Given the description of an element on the screen output the (x, y) to click on. 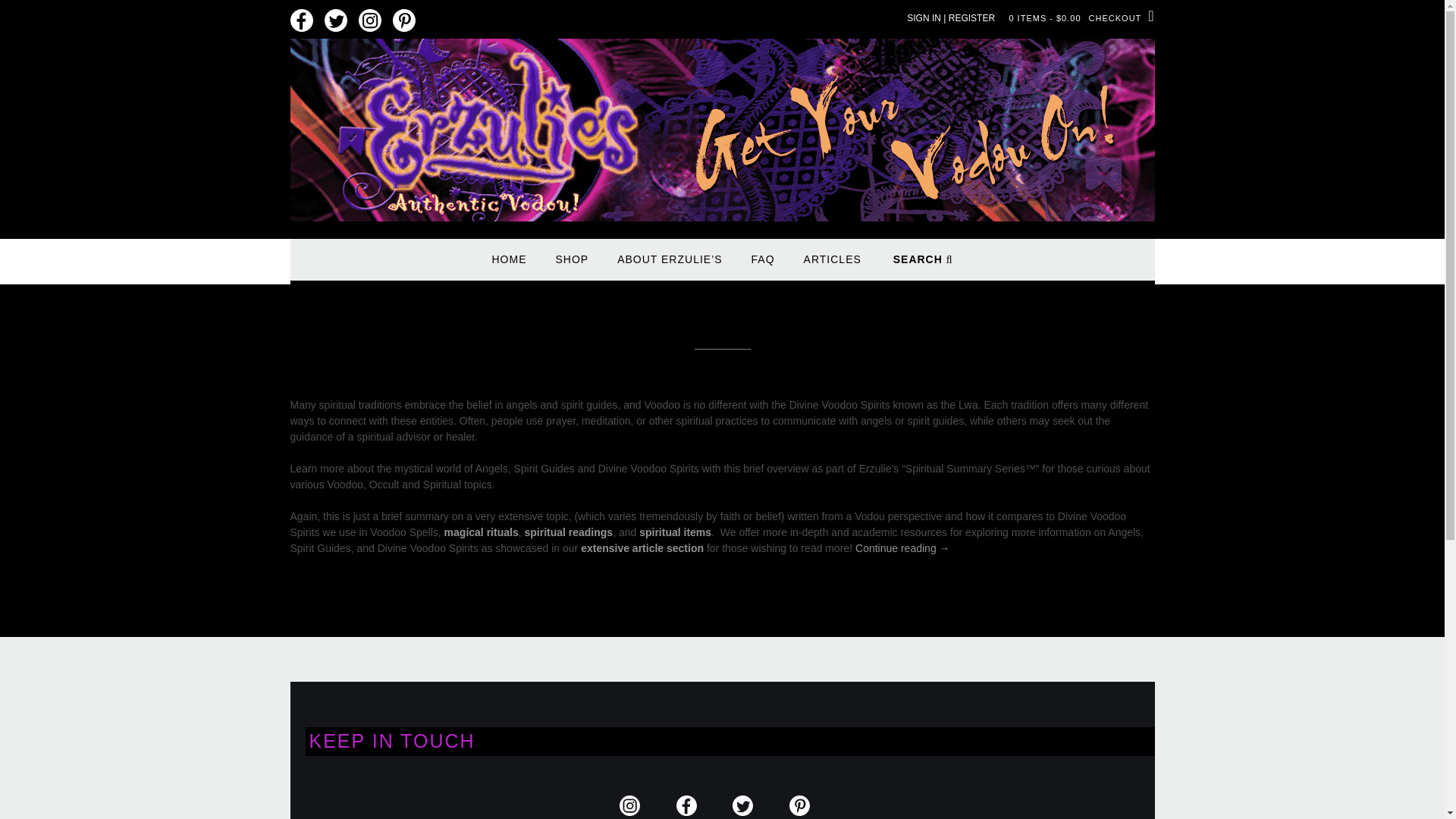
magical rituals (479, 532)
Follow us on Twitter (335, 21)
HOME (508, 266)
Find us on Facebook (301, 21)
ARTICLES (832, 266)
spiritual items (675, 532)
extensive article section (641, 548)
Pin us on Pinterest (403, 21)
Follow us on Instagram (369, 21)
